Given the description of an element on the screen output the (x, y) to click on. 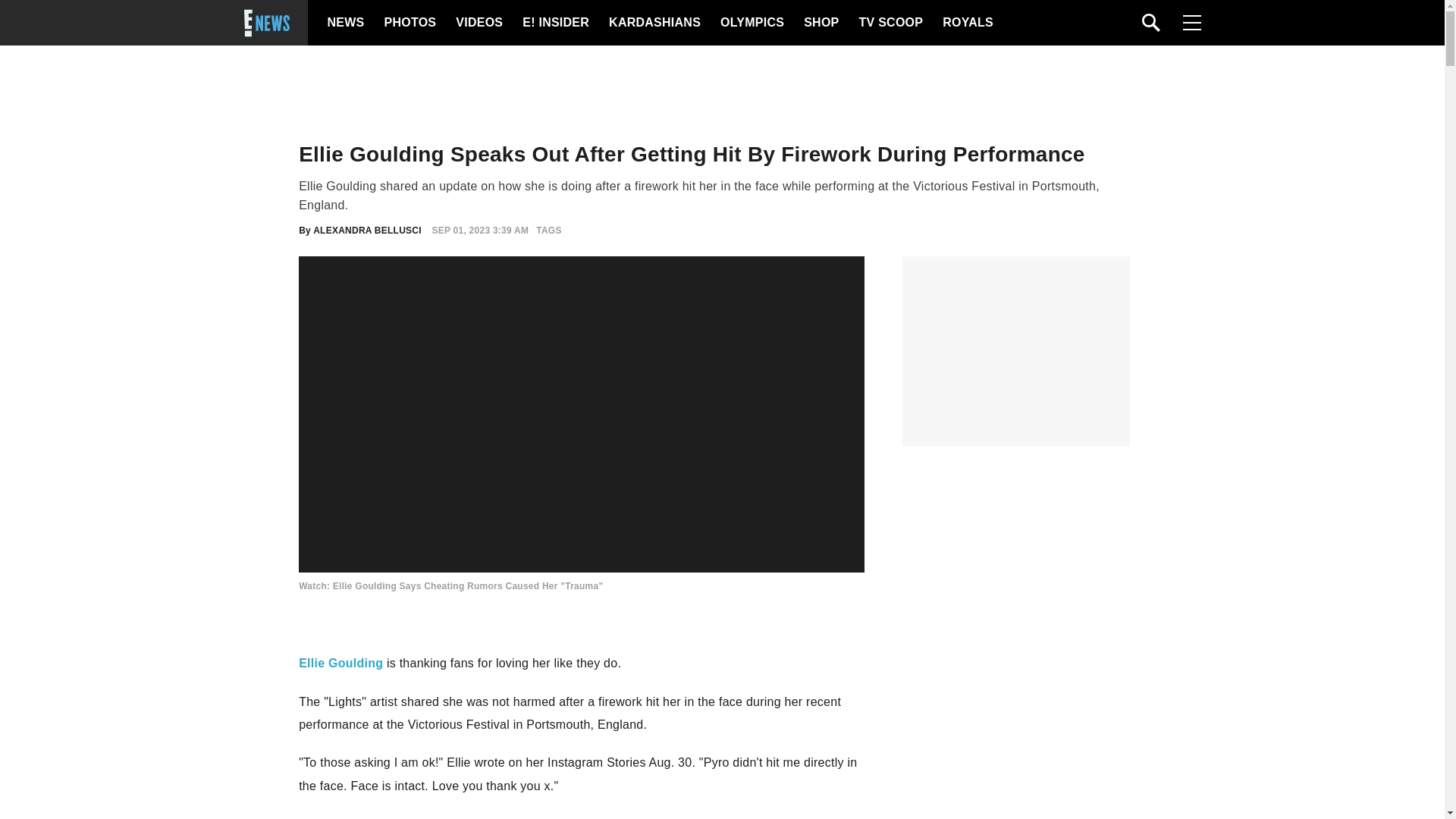
ROYALS (966, 22)
VIDEOS (478, 22)
SHOP (820, 22)
NEWS (345, 22)
PHOTOS (408, 22)
E! INSIDER (555, 22)
KARDASHIANS (653, 22)
Ellie Goulding (340, 662)
posted to social media (413, 818)
ALEXANDRA BELLUSCI (367, 230)
TV SCOOP (890, 22)
OLYMPICS (751, 22)
